Given the description of an element on the screen output the (x, y) to click on. 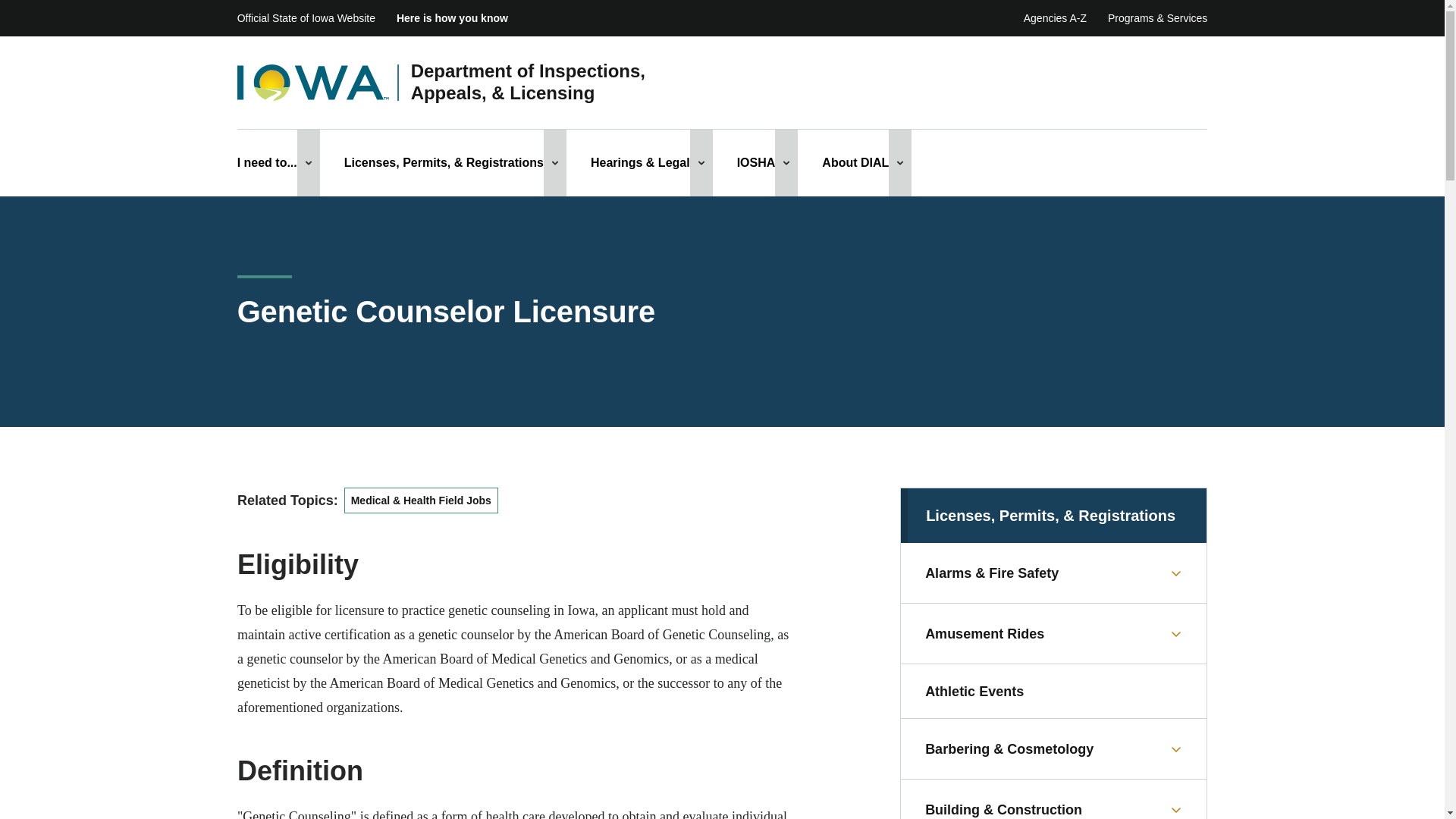
I need to... (267, 162)
Agencies A-Z (1054, 18)
Here is how you know (452, 18)
